Given the description of an element on the screen output the (x, y) to click on. 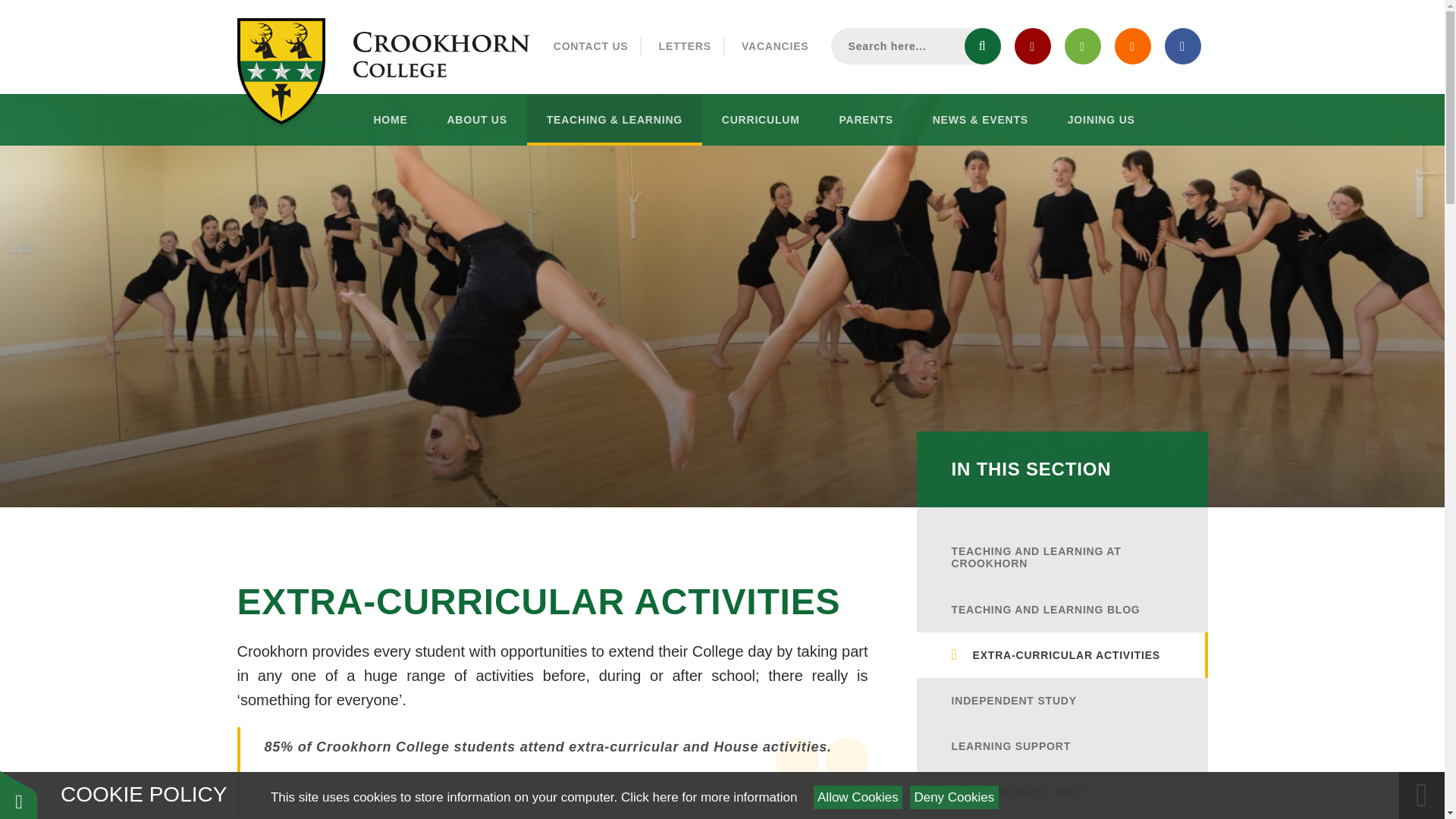
ABOUT US (475, 119)
HOME (389, 119)
Cookie Settings (18, 794)
See cookie policy (708, 797)
Allow Cookies (857, 797)
Deny Cookies (953, 797)
CROOKHORN COLLEGE (441, 52)
